Given the description of an element on the screen output the (x, y) to click on. 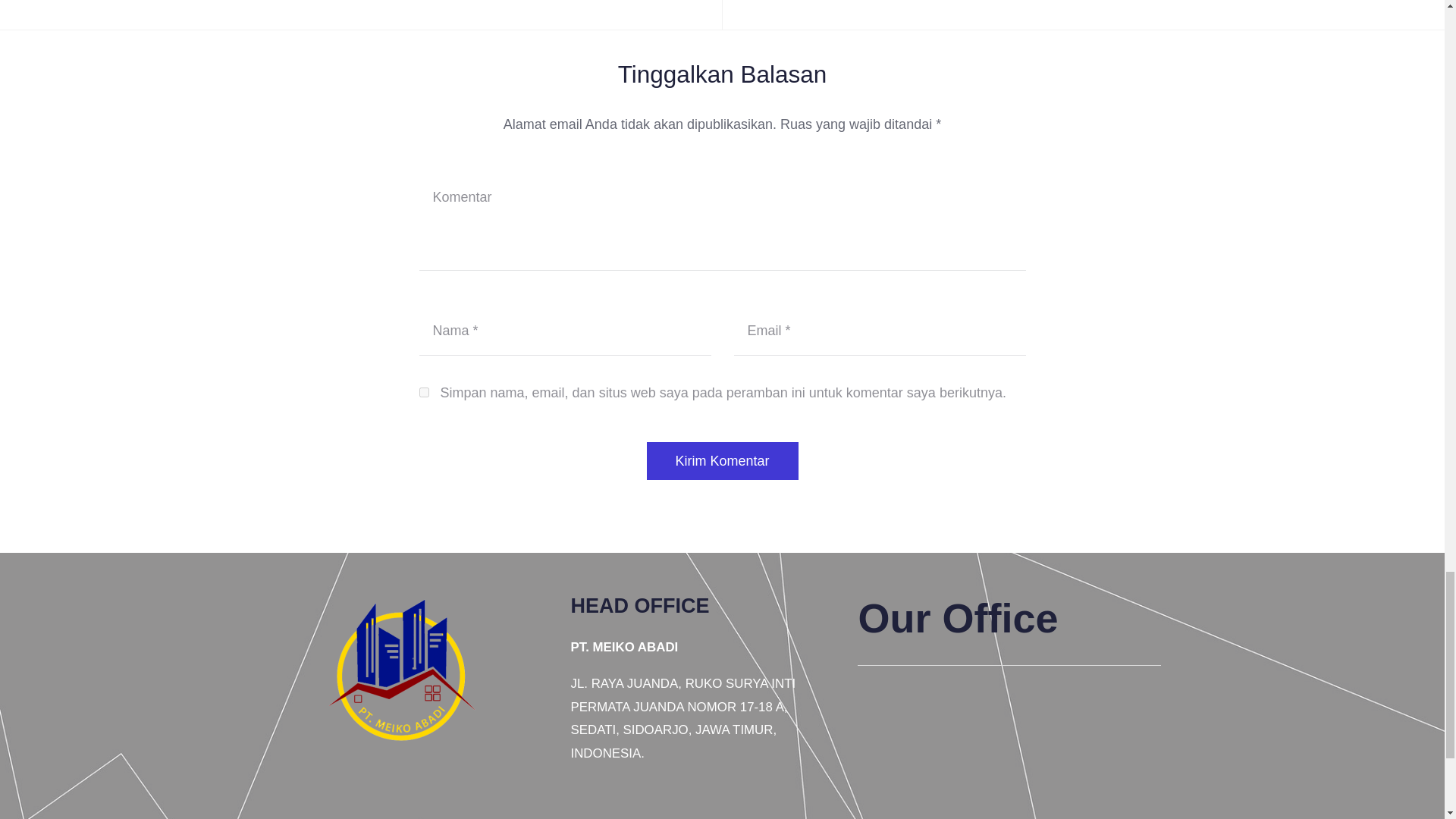
Kirim Komentar (721, 460)
yes (423, 392)
